Given the description of an element on the screen output the (x, y) to click on. 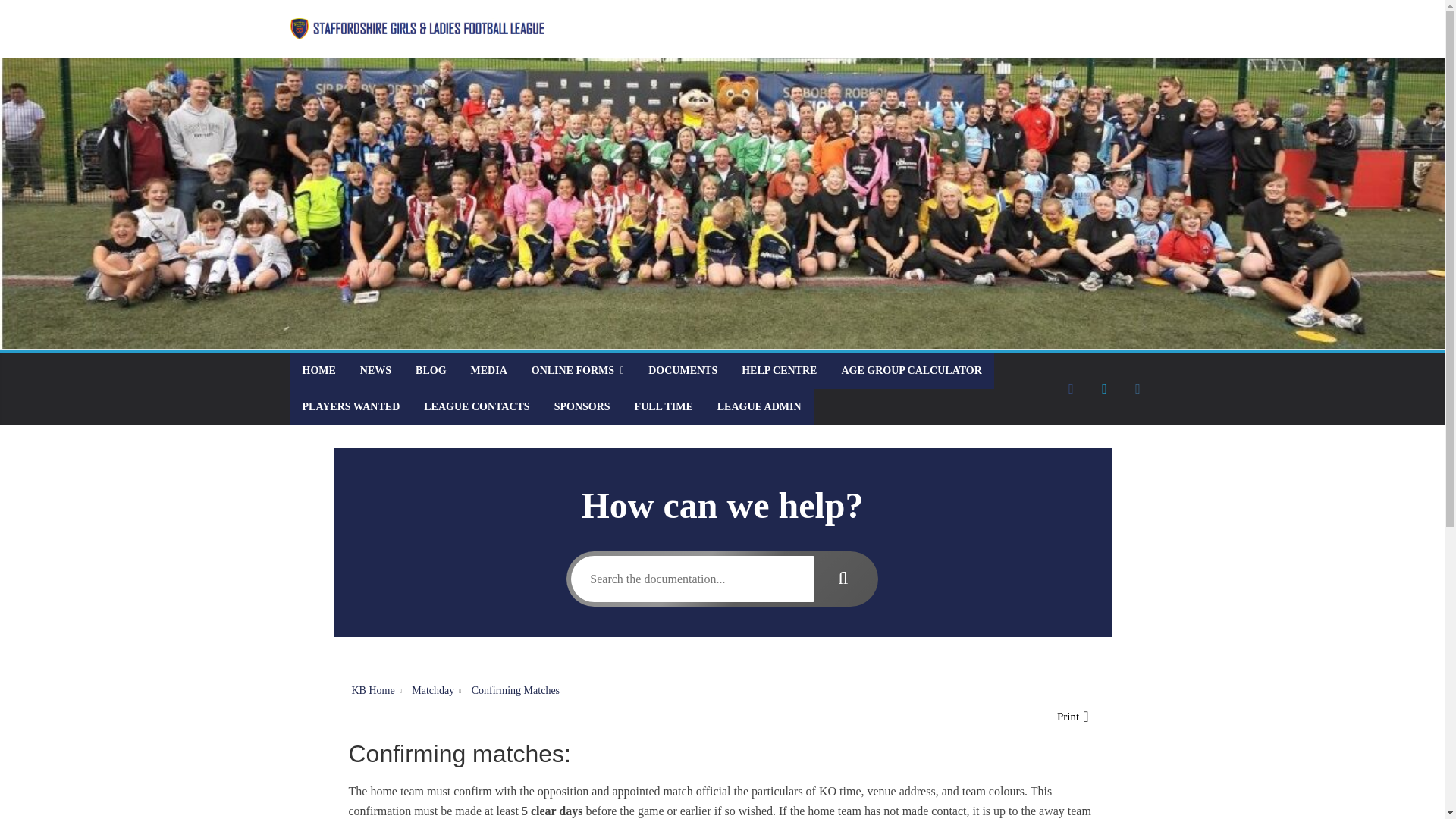
AGE GROUP CALCULATOR (910, 370)
Matchday (433, 690)
FULL TIME (663, 407)
DOCUMENTS (682, 370)
MEDIA (488, 370)
LEAGUE ADMIN (758, 407)
PLAYERS WANTED (350, 407)
HOME (318, 370)
Page 6 (722, 779)
BLOG (430, 370)
